Given the description of an element on the screen output the (x, y) to click on. 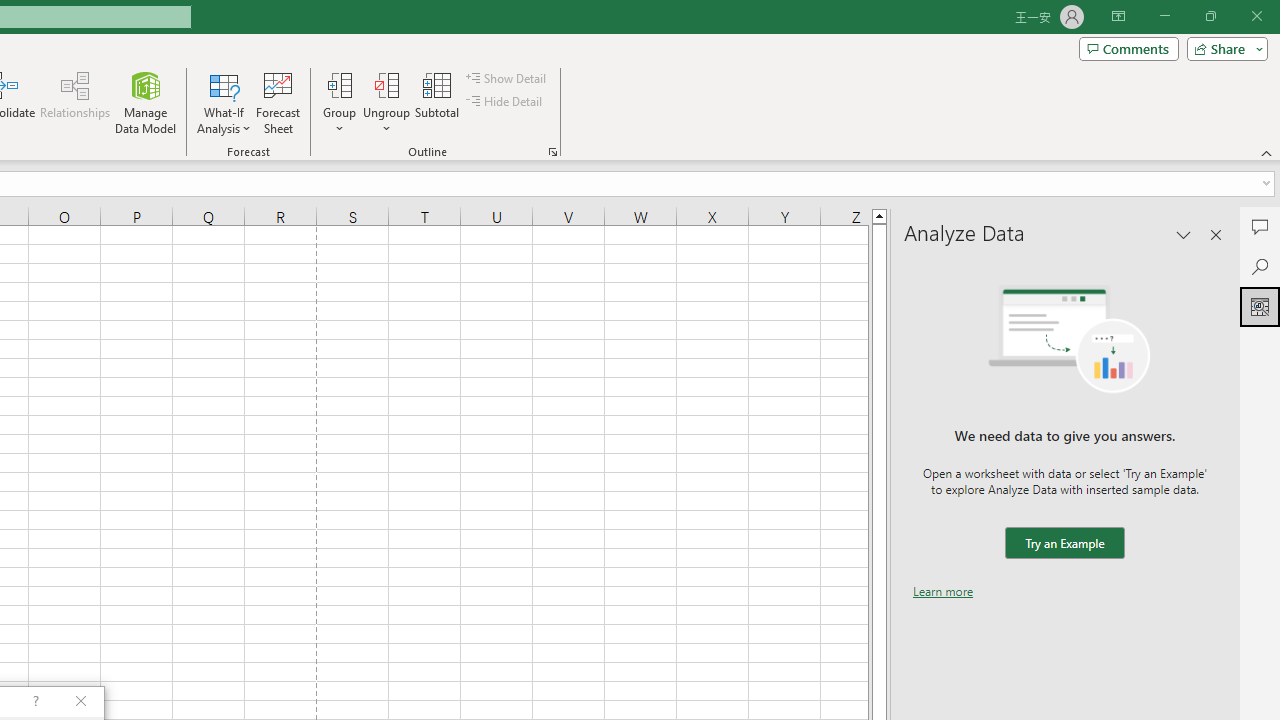
Collapse the Ribbon (1267, 152)
Relationships (75, 102)
Restore Down (1210, 16)
Ungroup... (386, 102)
Group... (339, 102)
Forecast Sheet (278, 102)
Line up (879, 215)
Hide Detail (505, 101)
Group and Outline Settings (552, 151)
Ribbon Display Options (1118, 16)
Ungroup... (386, 84)
